Given the description of an element on the screen output the (x, y) to click on. 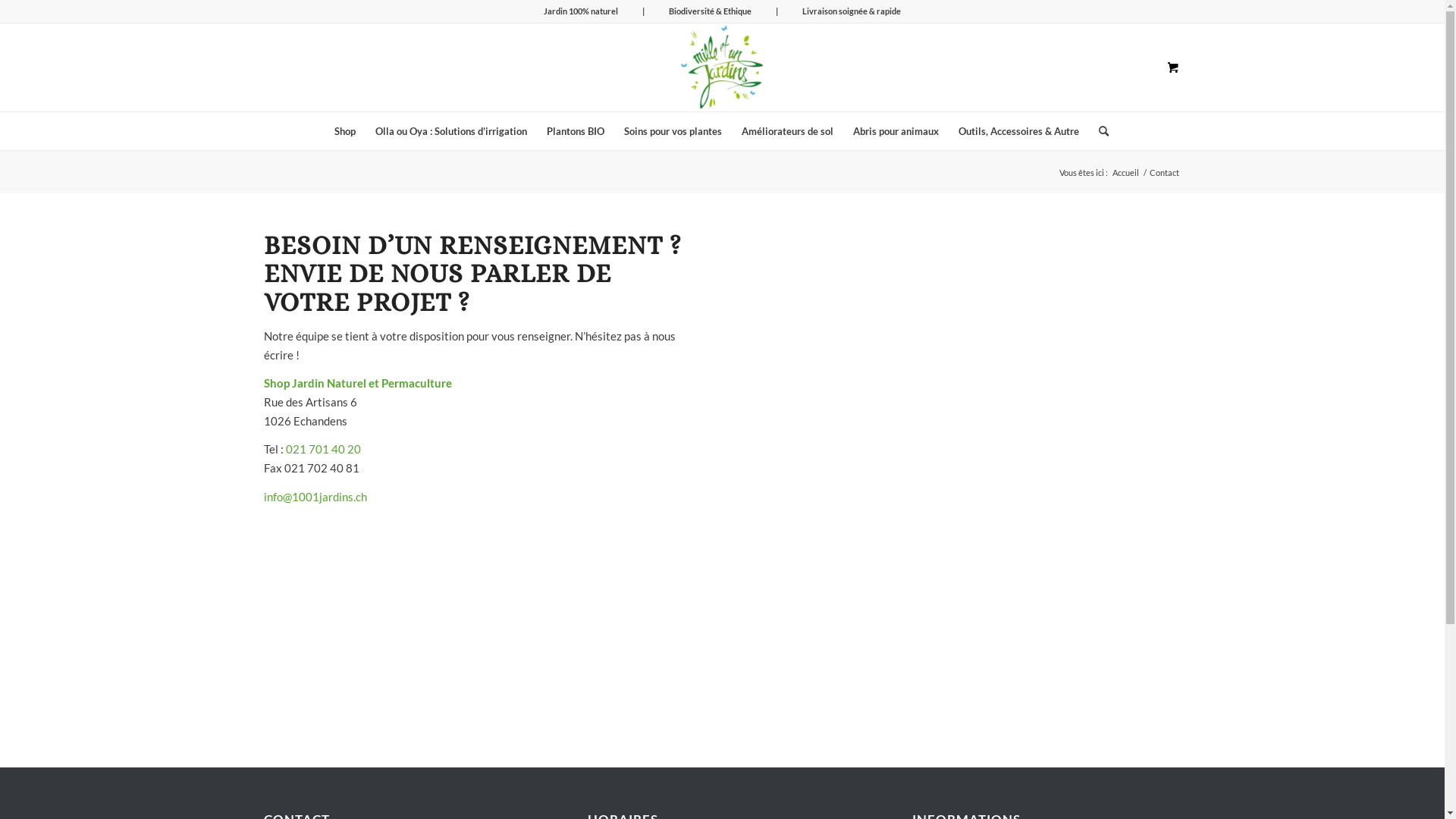
info@1001jardins.ch Element type: text (315, 496)
Shop Element type: text (344, 131)
021 701 40 20 Element type: text (322, 448)
Outils, Accessoires & Autre Element type: text (1018, 131)
Accueil Element type: text (1125, 172)
Soins pour vos plantes Element type: text (672, 131)
Abris pour animaux Element type: text (895, 131)
Plantons BIO Element type: text (575, 131)
